Given the description of an element on the screen output the (x, y) to click on. 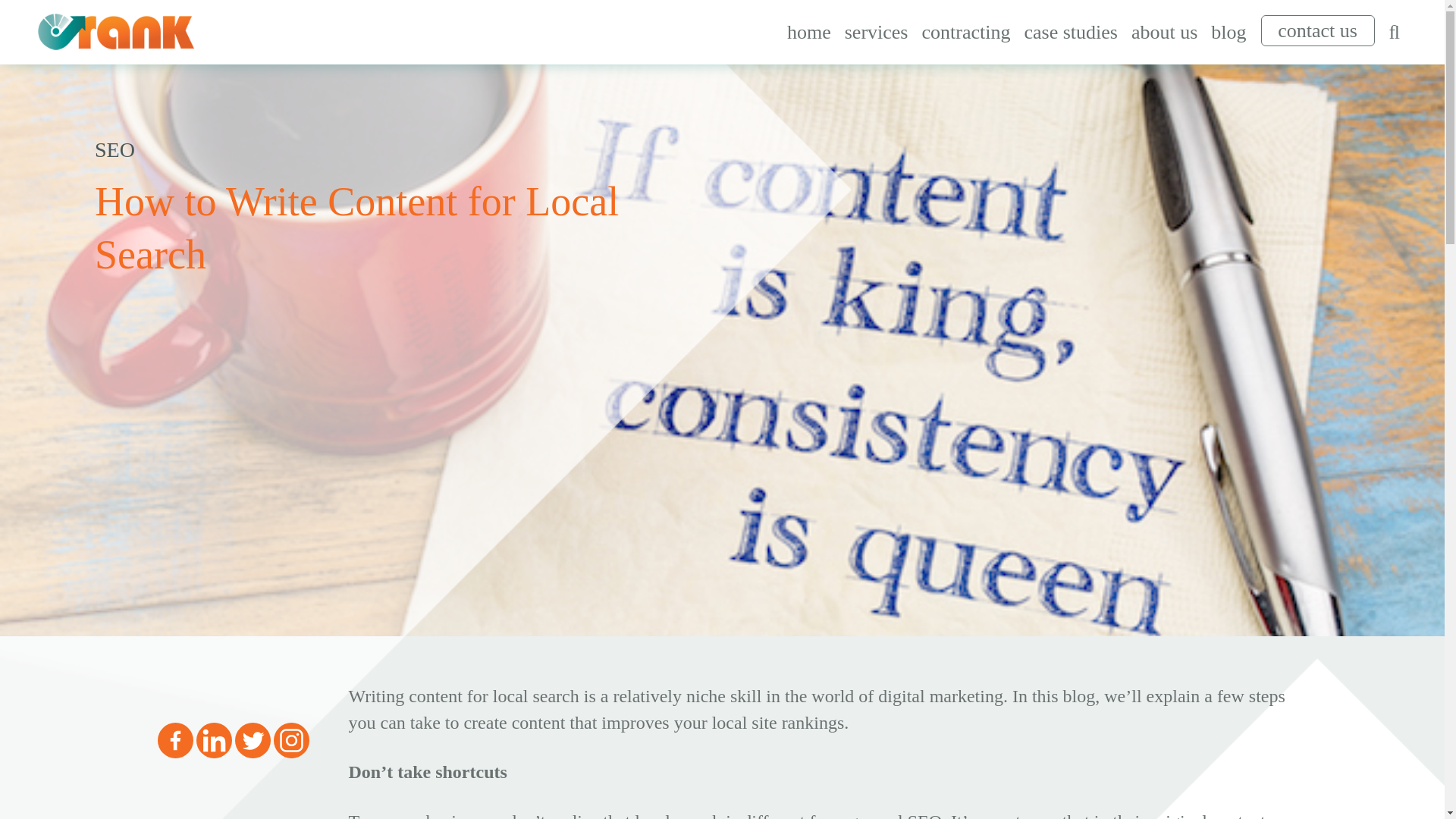
Twitter (252, 740)
Linkedin (213, 740)
case studies (1070, 32)
home (809, 32)
contracting (965, 32)
services (876, 32)
blog (1228, 32)
Instagram (290, 740)
contact us (1317, 30)
Facebook (175, 740)
about us (1164, 32)
